Given the description of an element on the screen output the (x, y) to click on. 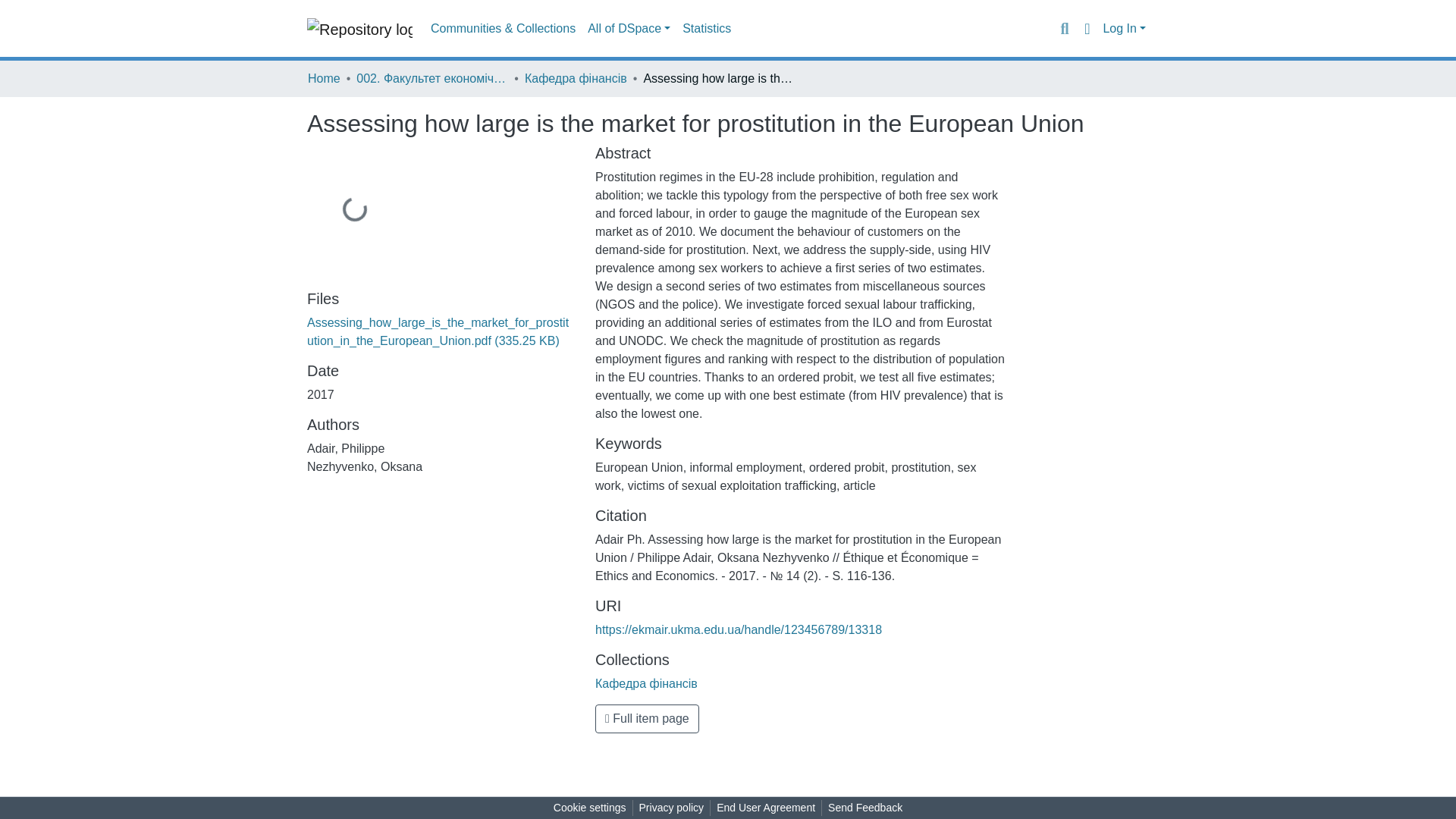
End User Agreement (765, 807)
Cookie settings (589, 807)
Language switch (1086, 28)
Statistics (706, 28)
Privacy policy (671, 807)
Statistics (706, 28)
Search (1064, 28)
Full item page (646, 718)
Home (323, 78)
All of DSpace (628, 28)
Log In (1123, 28)
Send Feedback (865, 807)
